Given the description of an element on the screen output the (x, y) to click on. 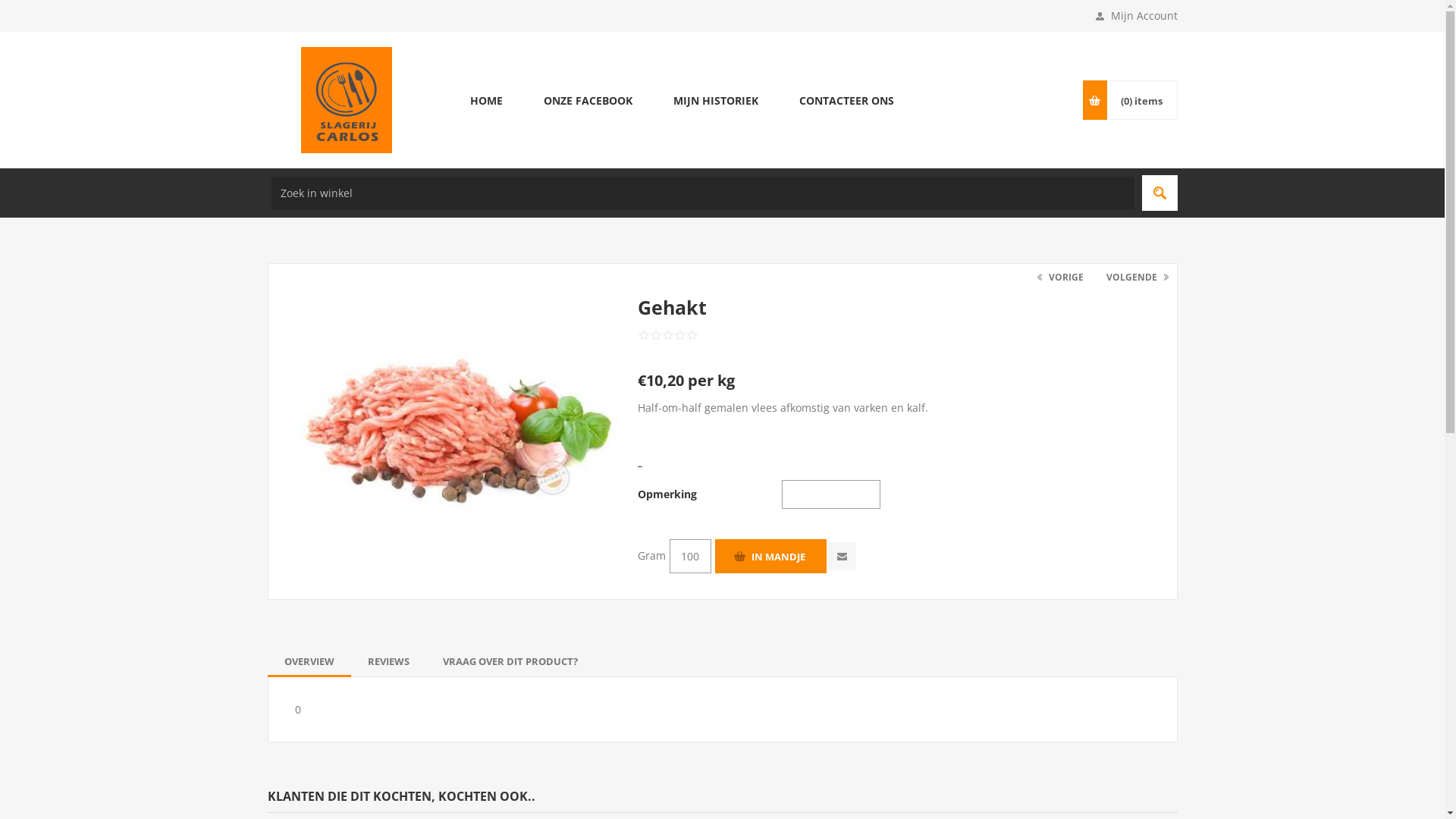
CONTACTEER ONS Element type: text (845, 100)
Search Element type: text (1159, 192)
VOLGENDE Element type: text (1136, 277)
Afbeelding van Gehakt Element type: hover (459, 414)
In mandje Element type: text (770, 556)
REVIEWS Element type: text (387, 661)
VRAAG OVER DIT PRODUCT? Element type: text (510, 661)
VORIGE Element type: text (1061, 277)
ONZE FACEBOOK Element type: text (587, 100)
MIJN HISTORIEK Element type: text (715, 100)
HOME Element type: text (485, 100)
E-mail een vriend Element type: text (842, 556)
OVERVIEW Element type: text (308, 661)
(0) items Element type: text (1140, 99)
